Given the description of an element on the screen output the (x, y) to click on. 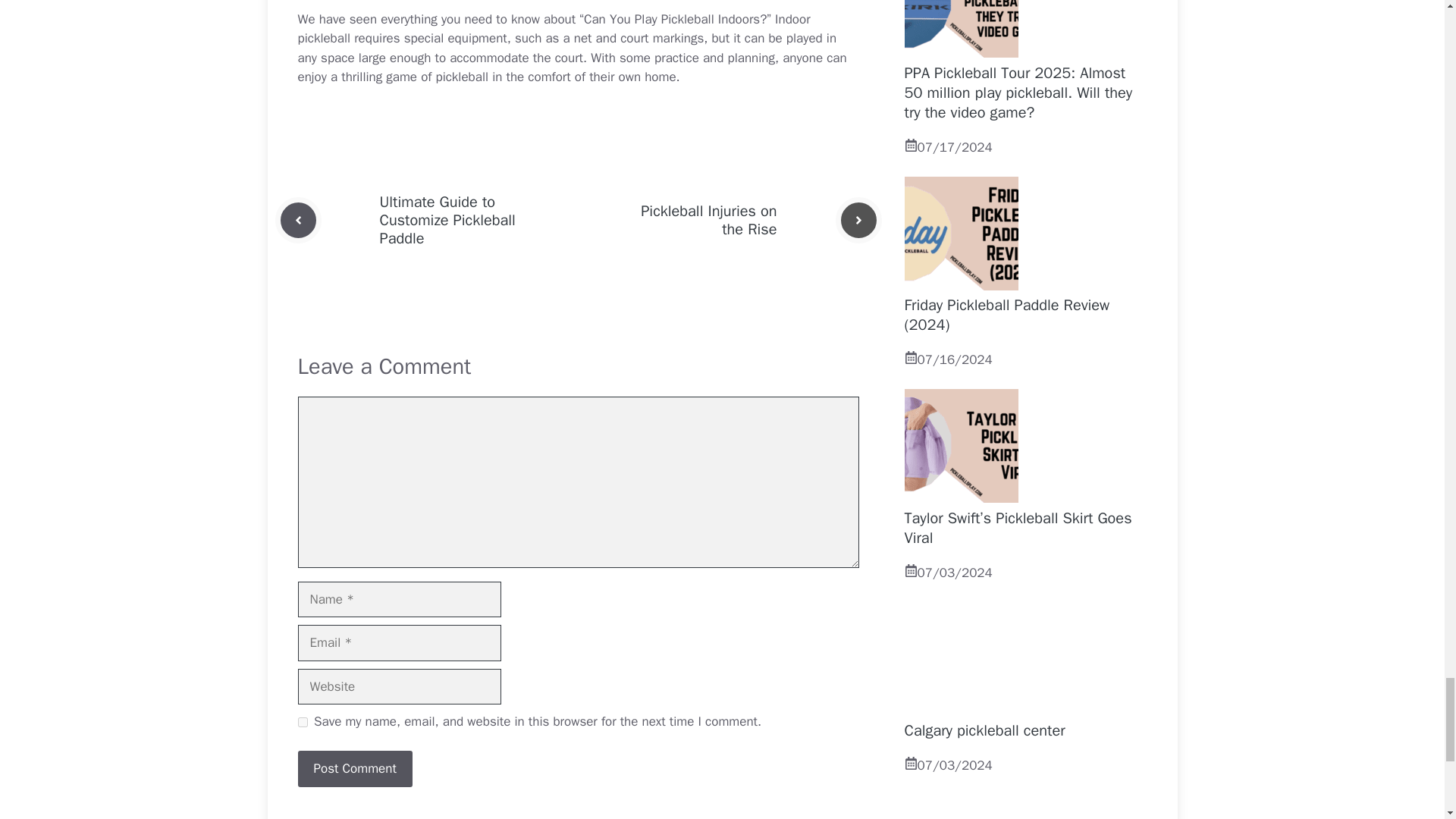
Pickleball Injuries on the Rise (708, 220)
Post Comment (354, 769)
Post Comment (354, 769)
Ultimate Guide to Customize Pickleball Paddle (446, 220)
yes (302, 722)
